Given the description of an element on the screen output the (x, y) to click on. 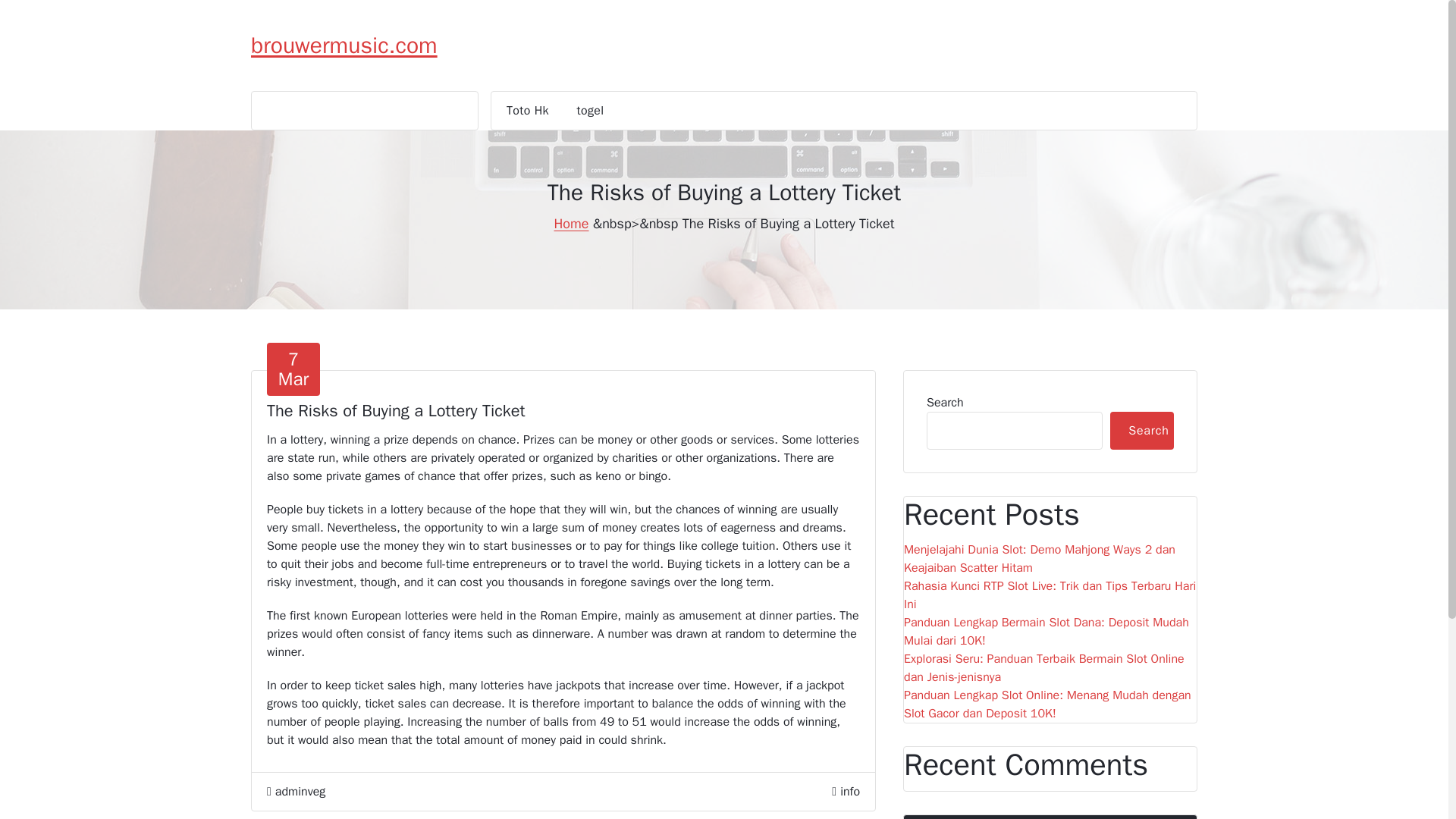
brouwermusic.com (293, 369)
Toto Hk (344, 44)
Search (527, 110)
adminveg (1141, 430)
togel (295, 791)
adminveg (590, 110)
Toto Hk (295, 791)
Home (527, 110)
togel (570, 223)
info (590, 110)
Rahasia Kunci RTP Slot Live: Trik dan Tips Terbaru Hari Ini (850, 791)
